Given the description of an element on the screen output the (x, y) to click on. 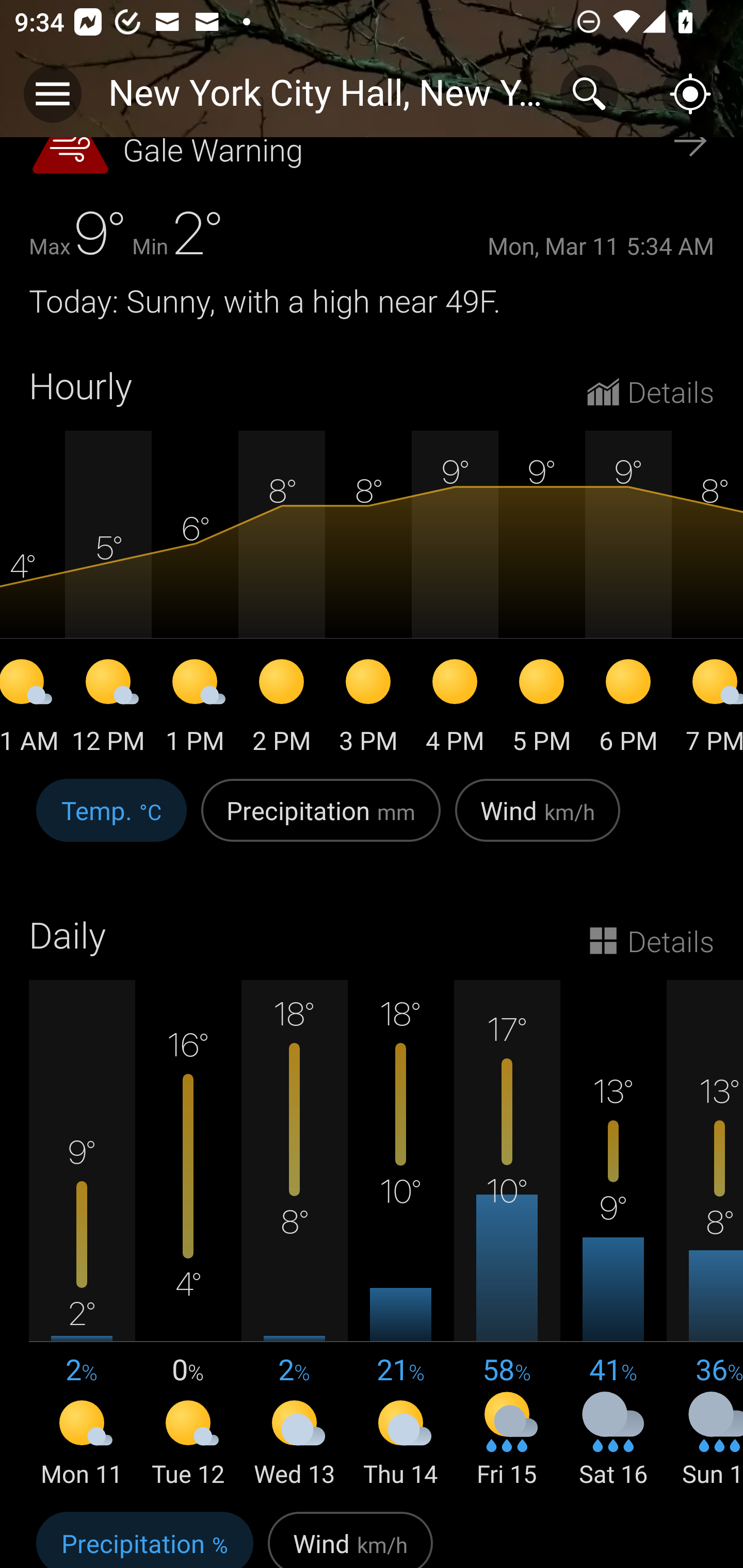
11 AM (32, 709)
12 PM (108, 709)
1 PM (194, 709)
2 PM (281, 709)
3 PM (368, 709)
4 PM (454, 709)
5 PM (541, 709)
6 PM (628, 709)
7 PM (707, 709)
Temp. °C (110, 820)
Precipitation mm (320, 820)
Wind km/h (537, 820)
9° 2° 2 % Mon 11 (81, 1234)
16° 4° 0 % Tue 12 (188, 1234)
18° 8° 2 % Wed 13 (294, 1234)
18° 10° 21 % Thu 14 (400, 1234)
17° 10° 58 % Fri 15 (506, 1234)
13° 9° 41 % Sat 16 (613, 1234)
13° 8° 36 % Sun 17 (704, 1234)
Precipitation % (144, 1536)
Wind km/h (349, 1536)
